Given the description of an element on the screen output the (x, y) to click on. 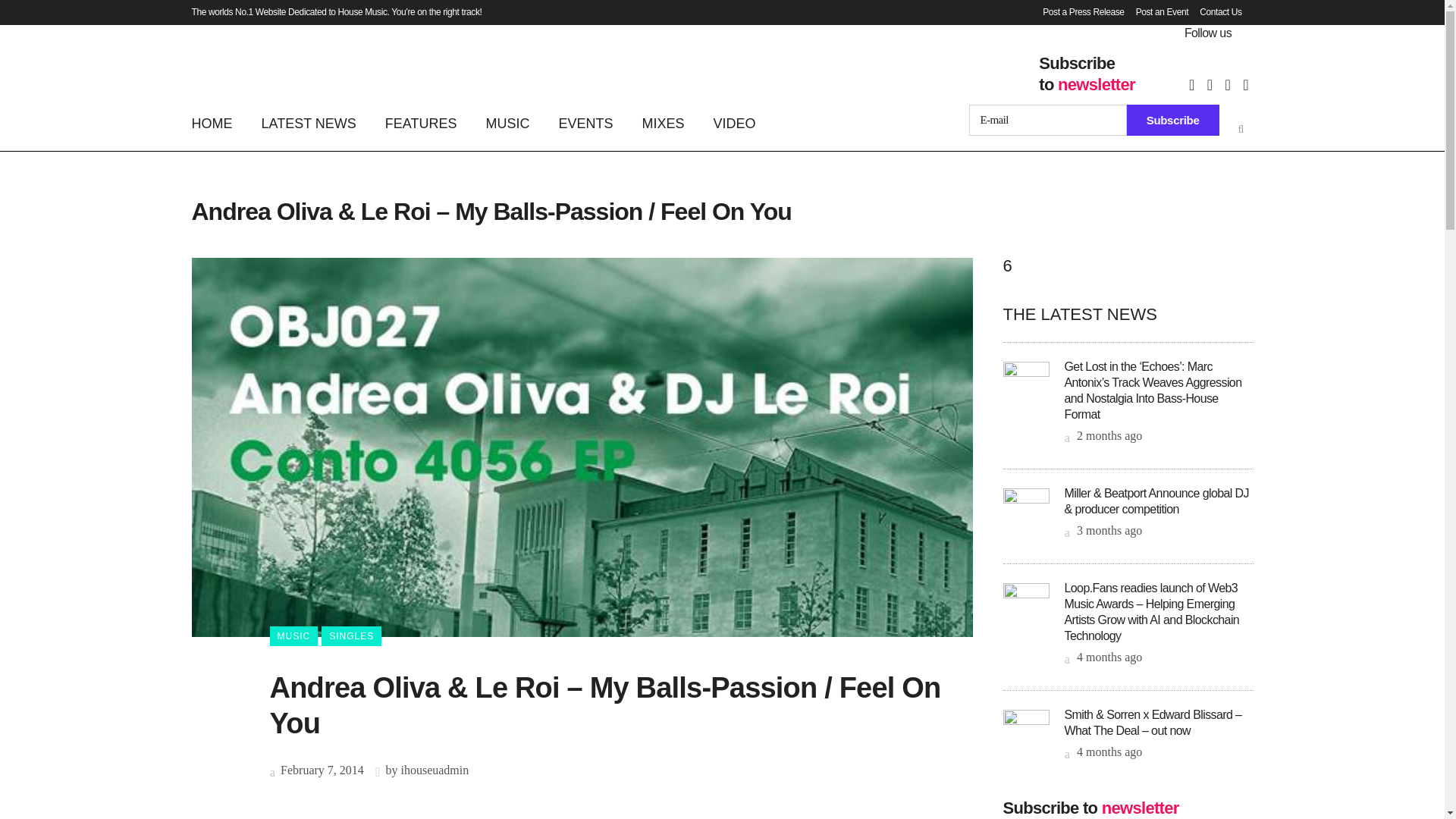
Subscribe (1173, 119)
LATEST NEWS (309, 123)
FEATURES (421, 123)
Contact Us (1214, 12)
E-mail (1047, 119)
HOME (218, 123)
Post an Event (1156, 12)
Post a Press Release (1077, 12)
